Given the description of an element on the screen output the (x, y) to click on. 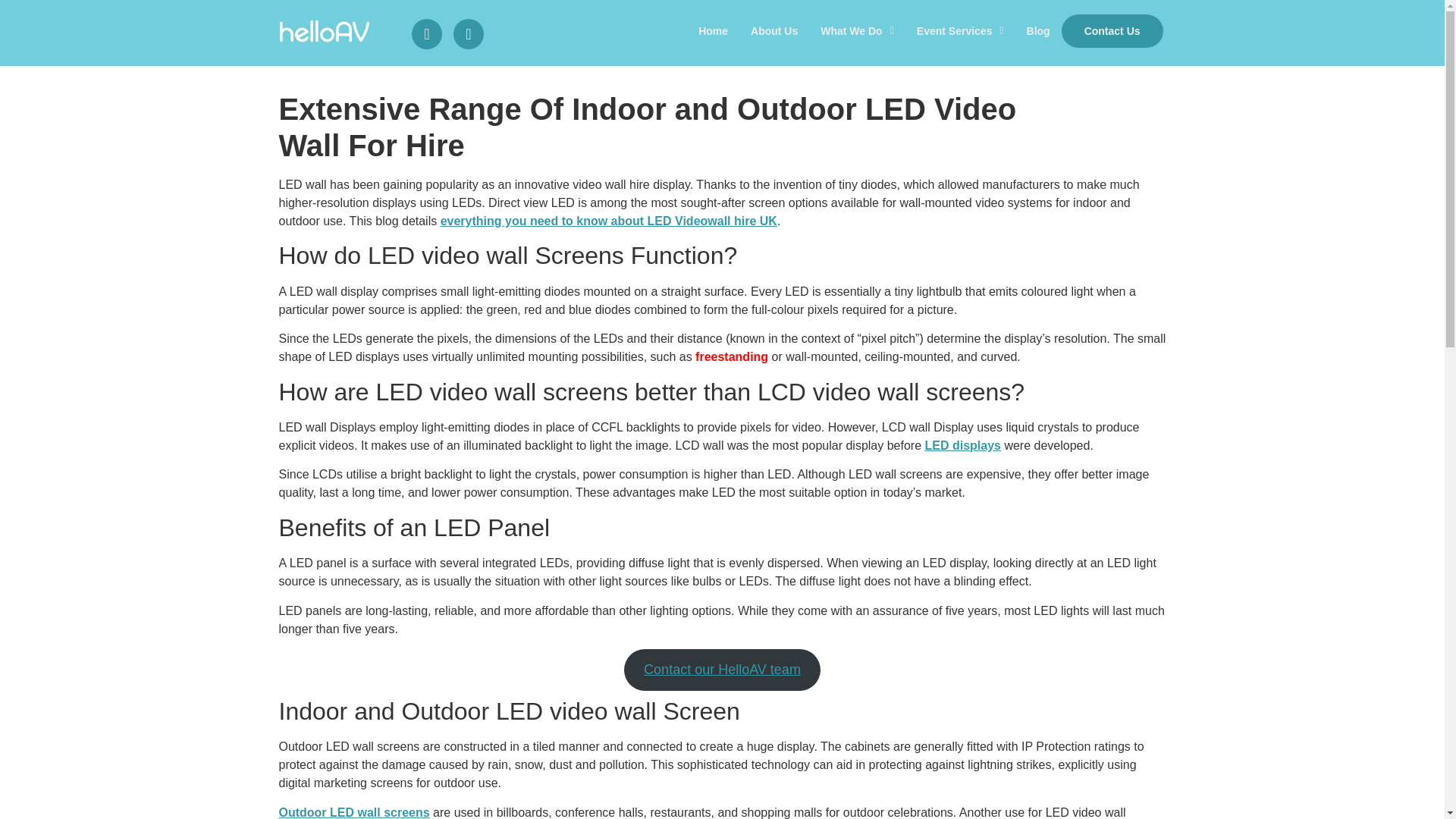
helloav-logo-white (324, 30)
LED displays (962, 445)
Outdoor LED wall screens (354, 812)
About Us (774, 30)
What We Do (857, 30)
Contact Us (1112, 30)
Home (713, 30)
everything you need to know about LED Videowall hire UK (609, 220)
Event Services (959, 30)
Blog (1037, 30)
Contact our HelloAV team (722, 670)
